Given the description of an element on the screen output the (x, y) to click on. 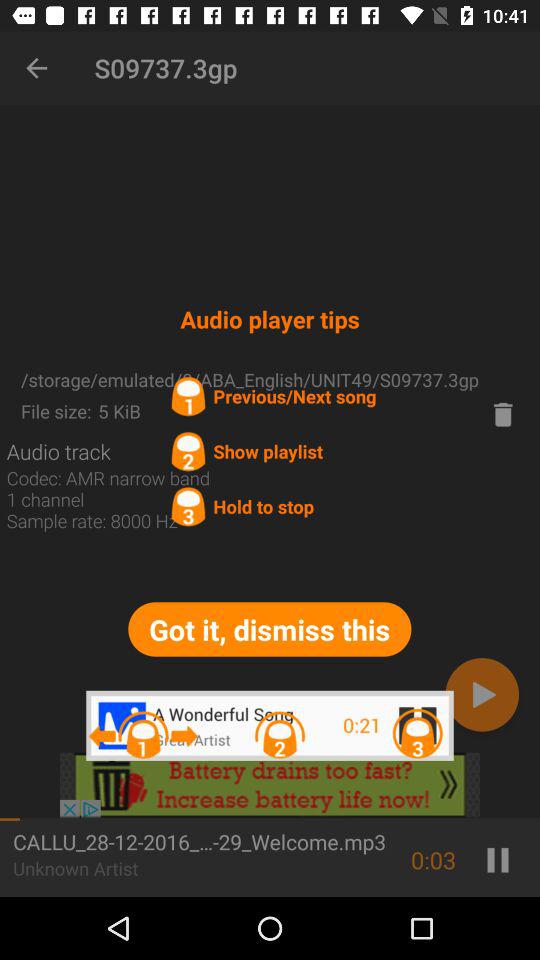
audio player tips (270, 785)
